Given the description of an element on the screen output the (x, y) to click on. 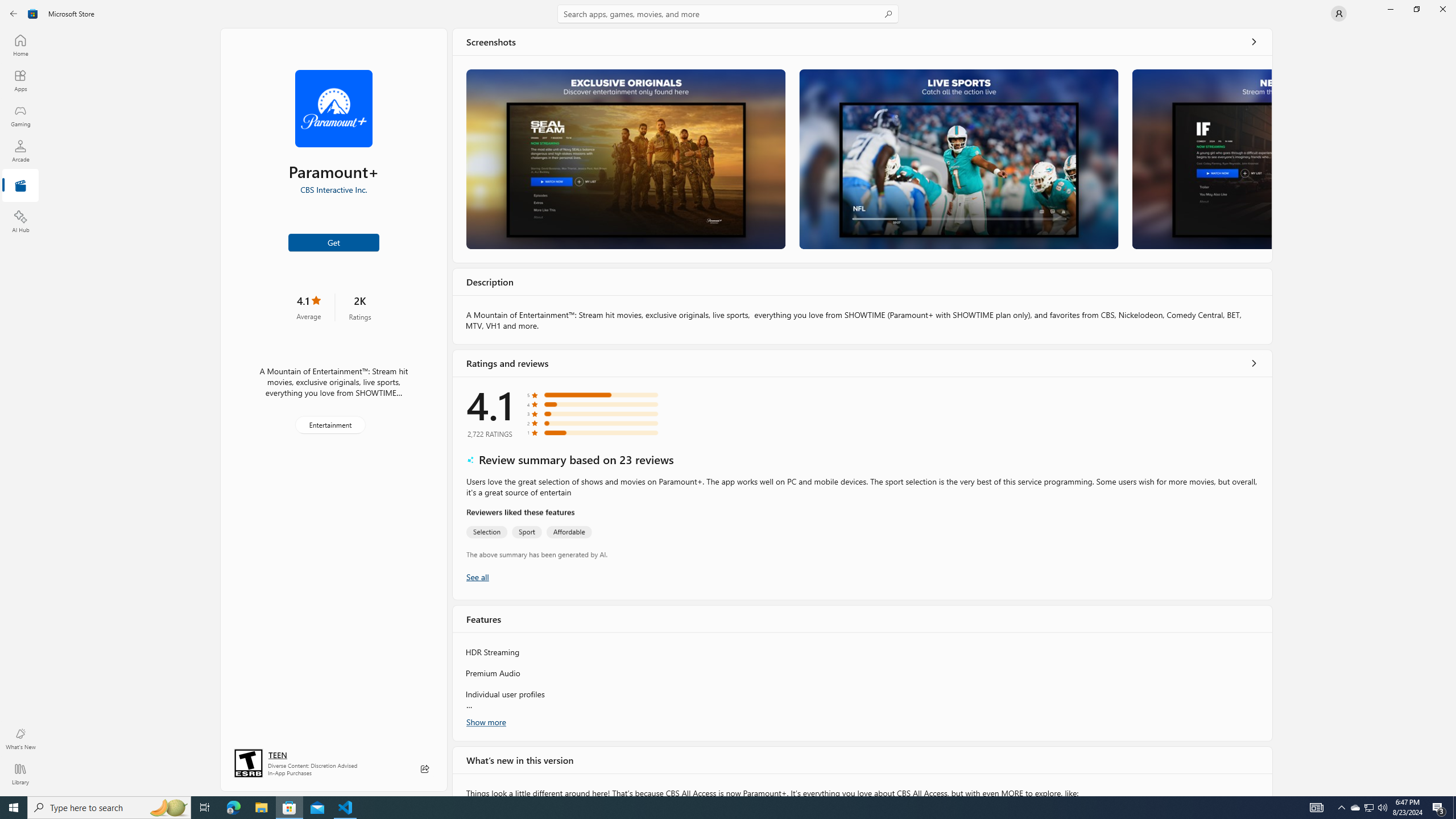
Search (727, 13)
4.1 stars. Click to skip to ratings and reviews (308, 306)
Show all ratings and reviews (1253, 362)
Back (13, 13)
AutomationID: NavigationControl (728, 398)
Age rating: TEEN. Click for more information. (276, 754)
Show all ratings and reviews (477, 576)
Show more (485, 721)
Screenshot 2 (958, 158)
